Given the description of an element on the screen output the (x, y) to click on. 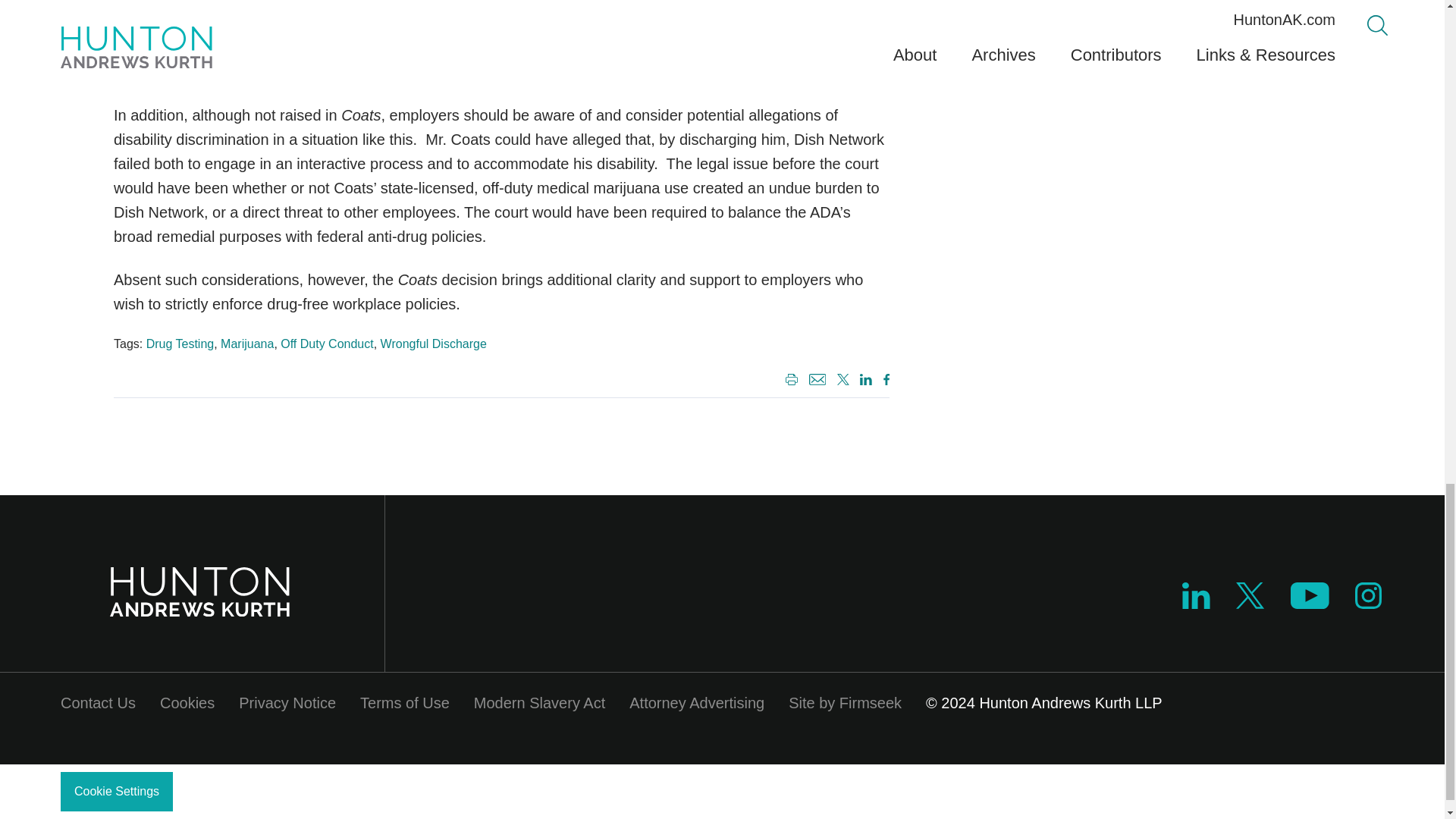
Youtube (1309, 603)
Linkedin (1195, 603)
Instagram (1369, 603)
Linkedin (863, 380)
Linkedin (1195, 595)
Email (818, 378)
Youtube (1309, 595)
Drug Testing (180, 343)
Print (788, 380)
Instagram (1368, 595)
